Given the description of an element on the screen output the (x, y) to click on. 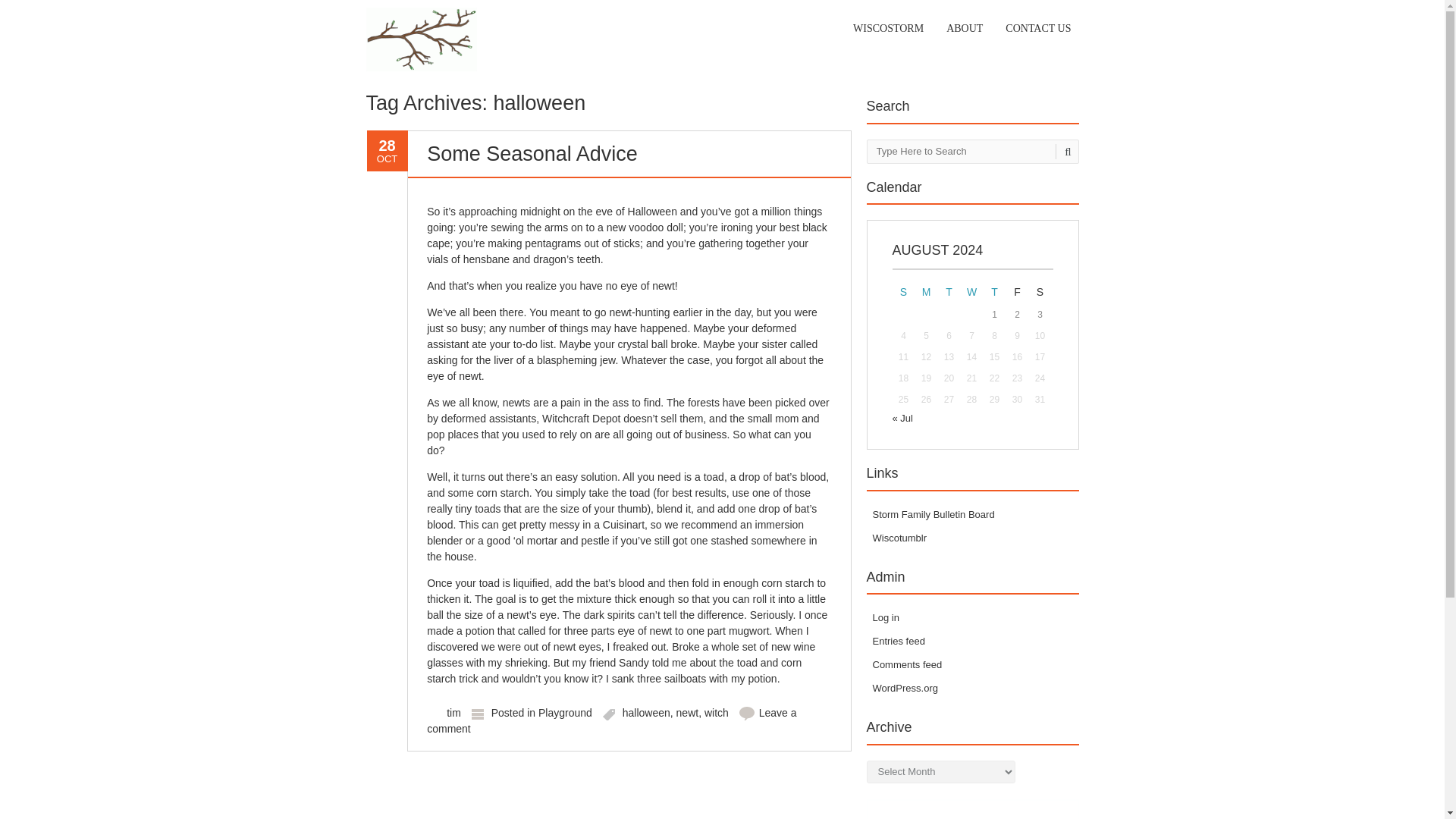
Saturday (1039, 291)
newt (687, 712)
Wiscotumblr (899, 537)
Some Seasonal Advice (531, 153)
Search (1064, 151)
WISCOSTORM (888, 28)
Leave a comment (611, 720)
Monday (925, 291)
Entries feed (898, 641)
Permalink to Some Seasonal Advice (531, 153)
CONTACT US (1037, 28)
Sunday (902, 291)
Tuesday (948, 291)
Log in (885, 617)
Comments feed (907, 664)
